Given the description of an element on the screen output the (x, y) to click on. 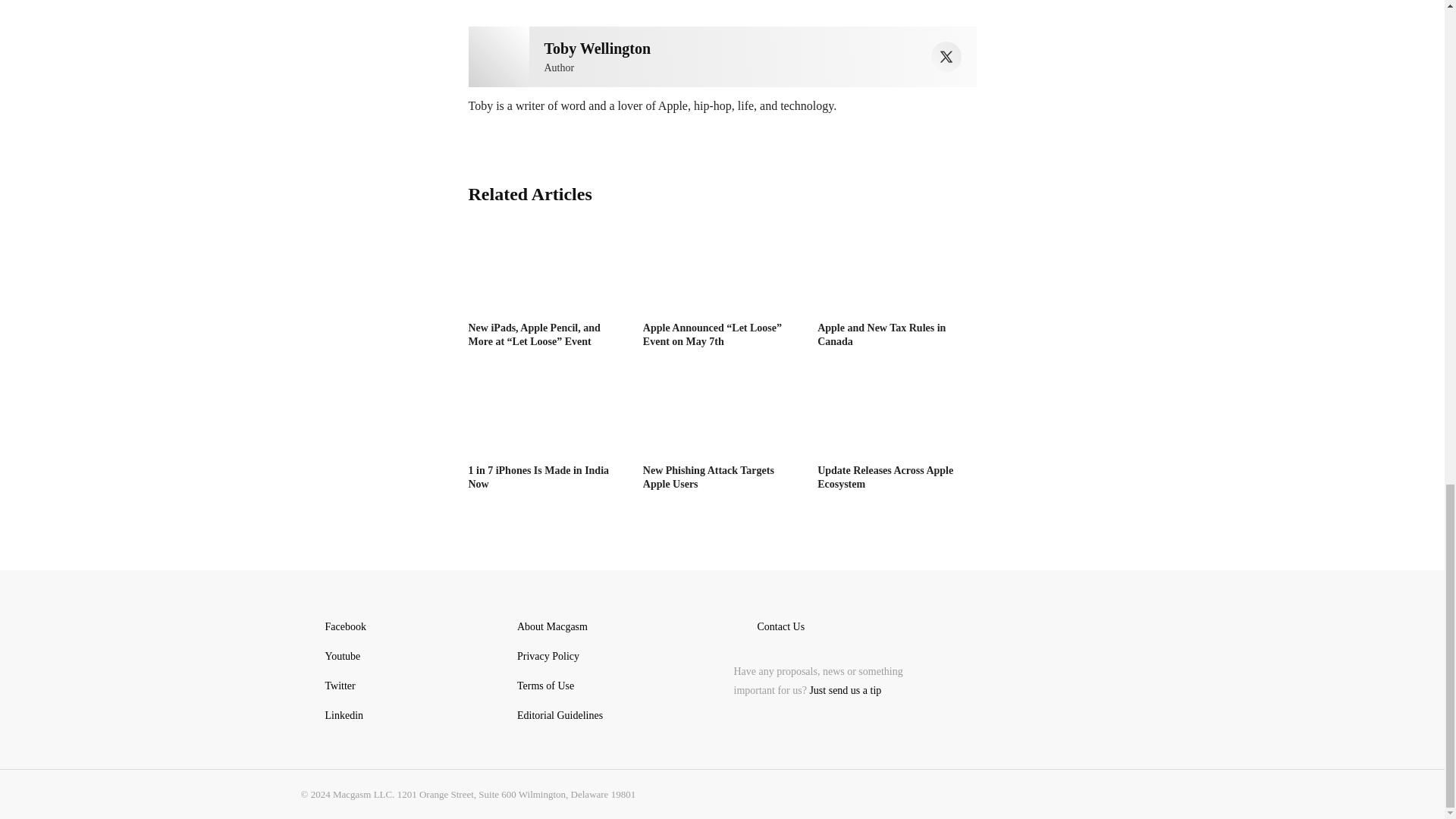
Toby Wellington (498, 56)
Twitter (945, 56)
Toby Wellington (597, 48)
